Given the description of an element on the screen output the (x, y) to click on. 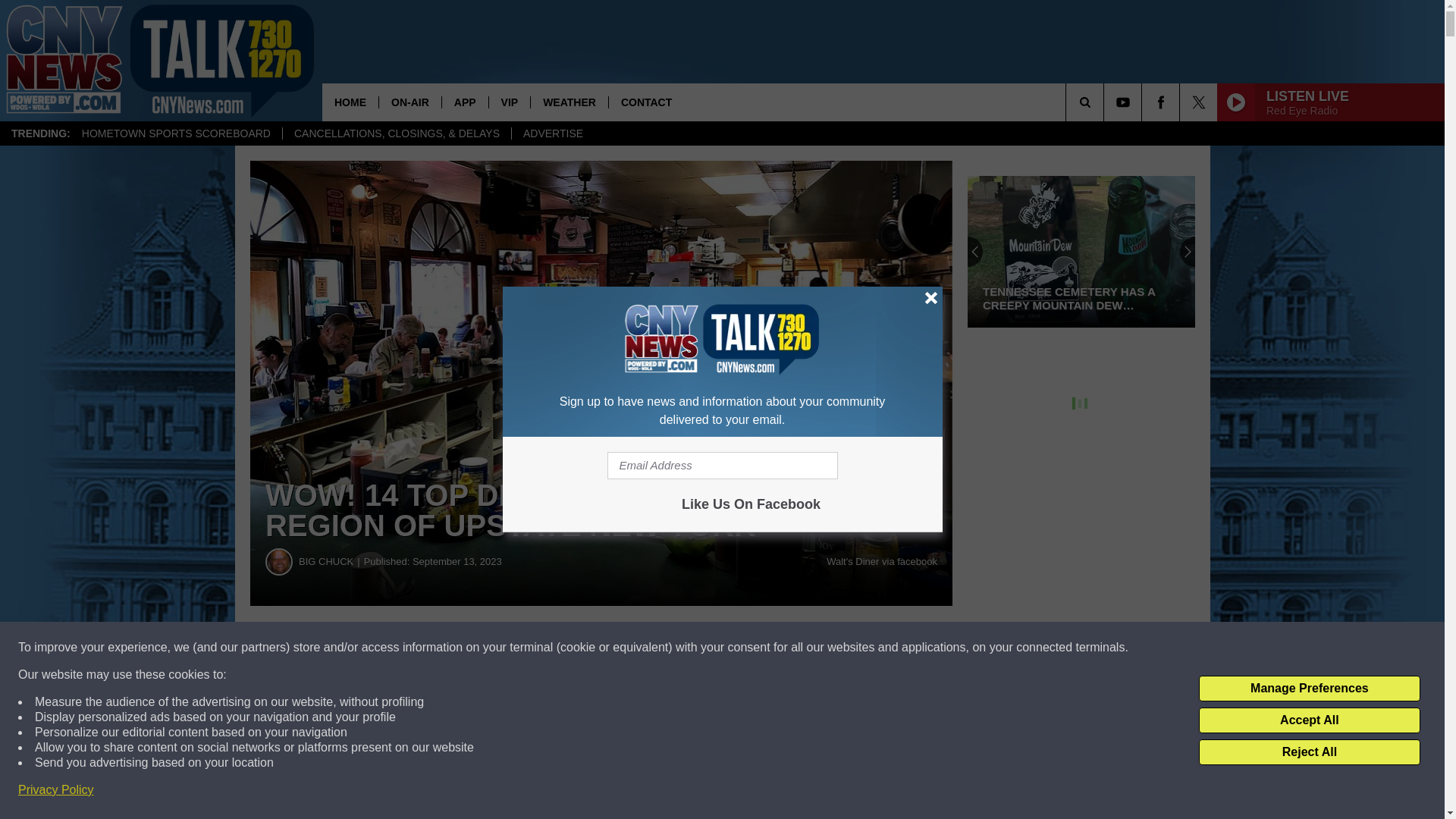
CONTACT (646, 102)
HOME (349, 102)
ADVERTISE (552, 133)
Share on Twitter (741, 647)
SEARCH (1106, 102)
SEARCH (1106, 102)
WEATHER (568, 102)
Privacy Policy (55, 789)
Accept All (1309, 720)
ON-AIR (409, 102)
Reject All (1309, 751)
HOMETOWN SPORTS SCOREBOARD (175, 133)
VIP (509, 102)
APP (464, 102)
Email Address (722, 465)
